Given the description of an element on the screen output the (x, y) to click on. 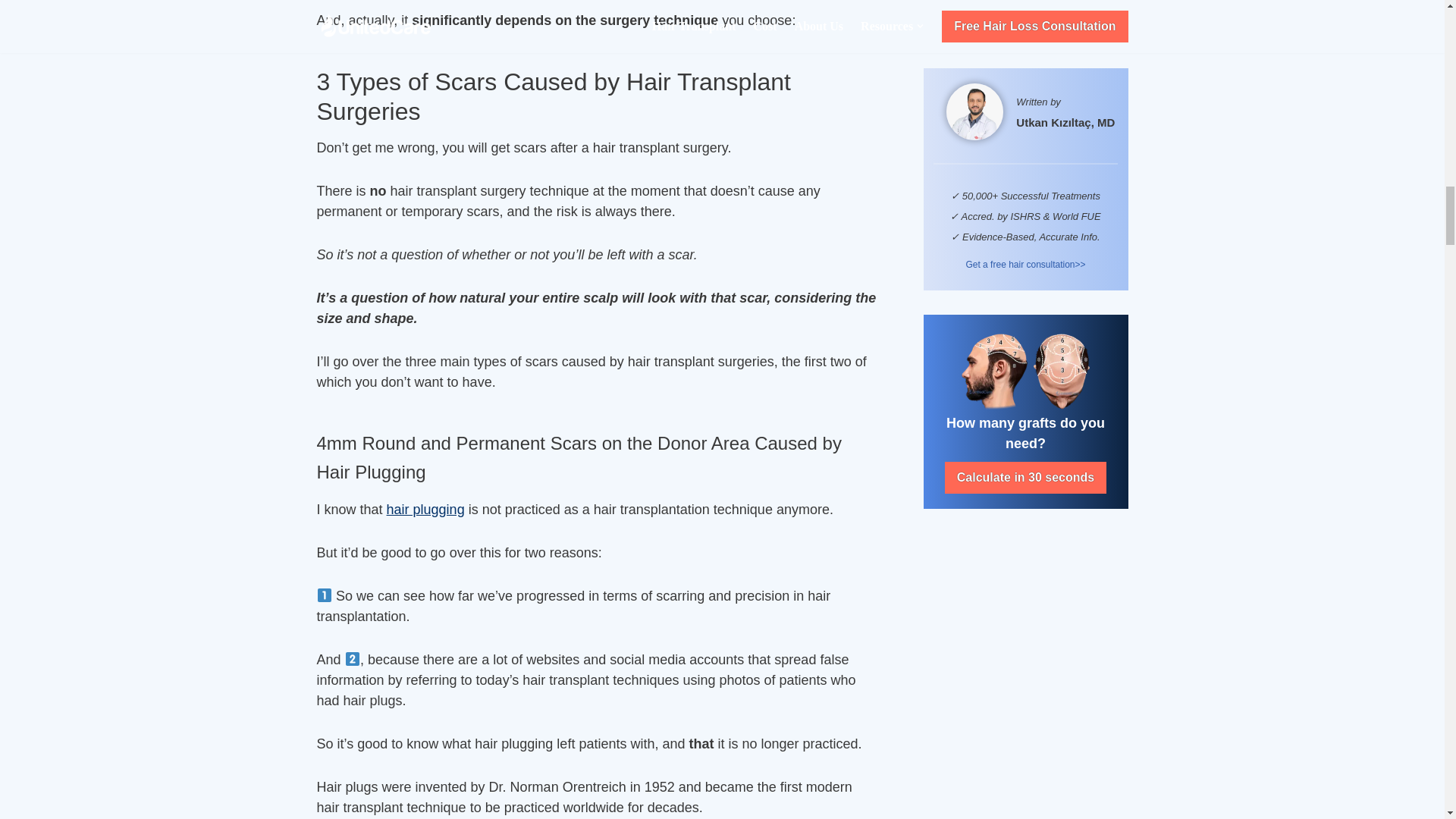
hair plugging (425, 509)
